Given the description of an element on the screen output the (x, y) to click on. 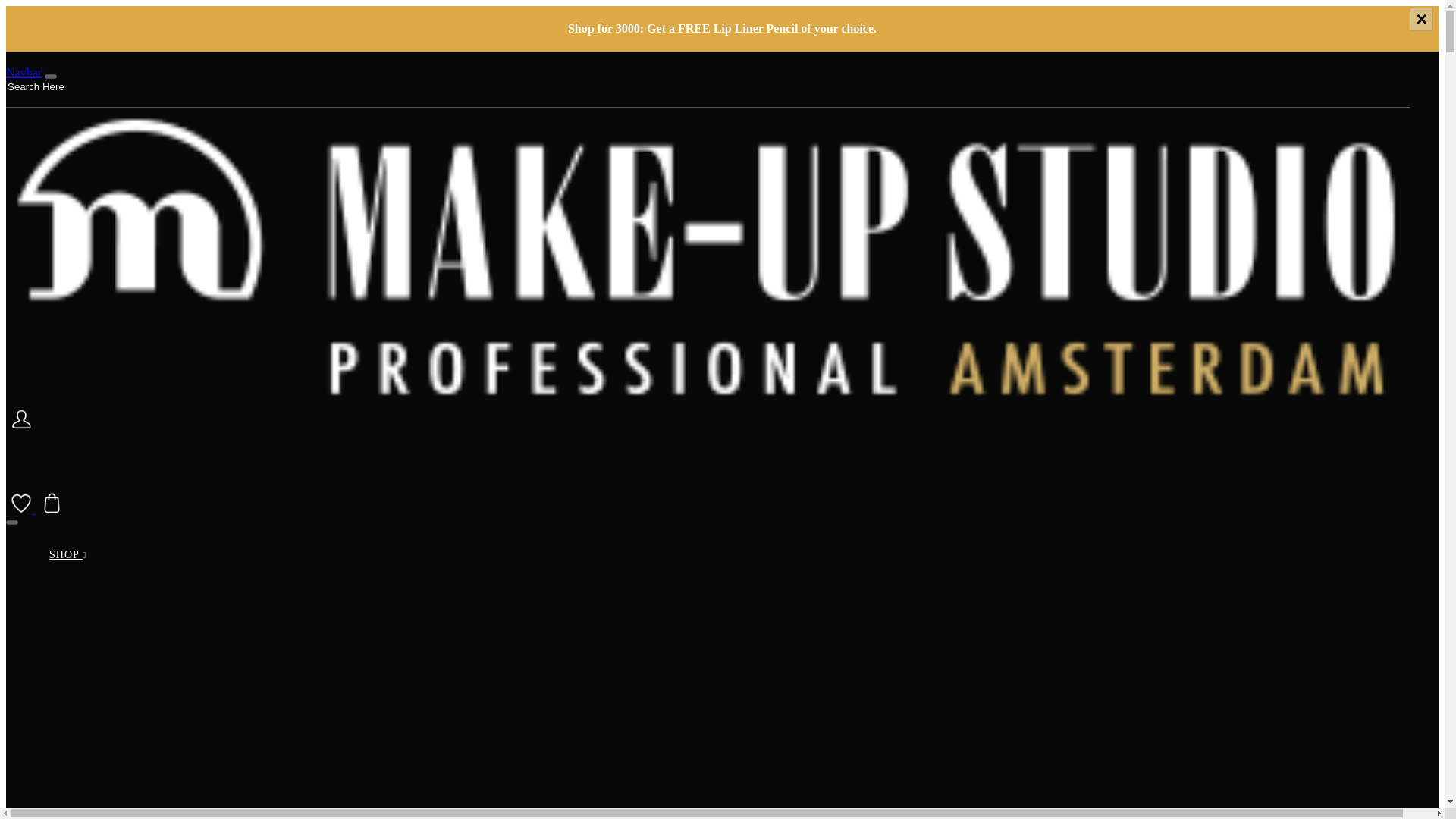
Navbar (23, 72)
My cart (52, 508)
My Wishlist (22, 508)
SHOP (67, 555)
